Given the description of an element on the screen output the (x, y) to click on. 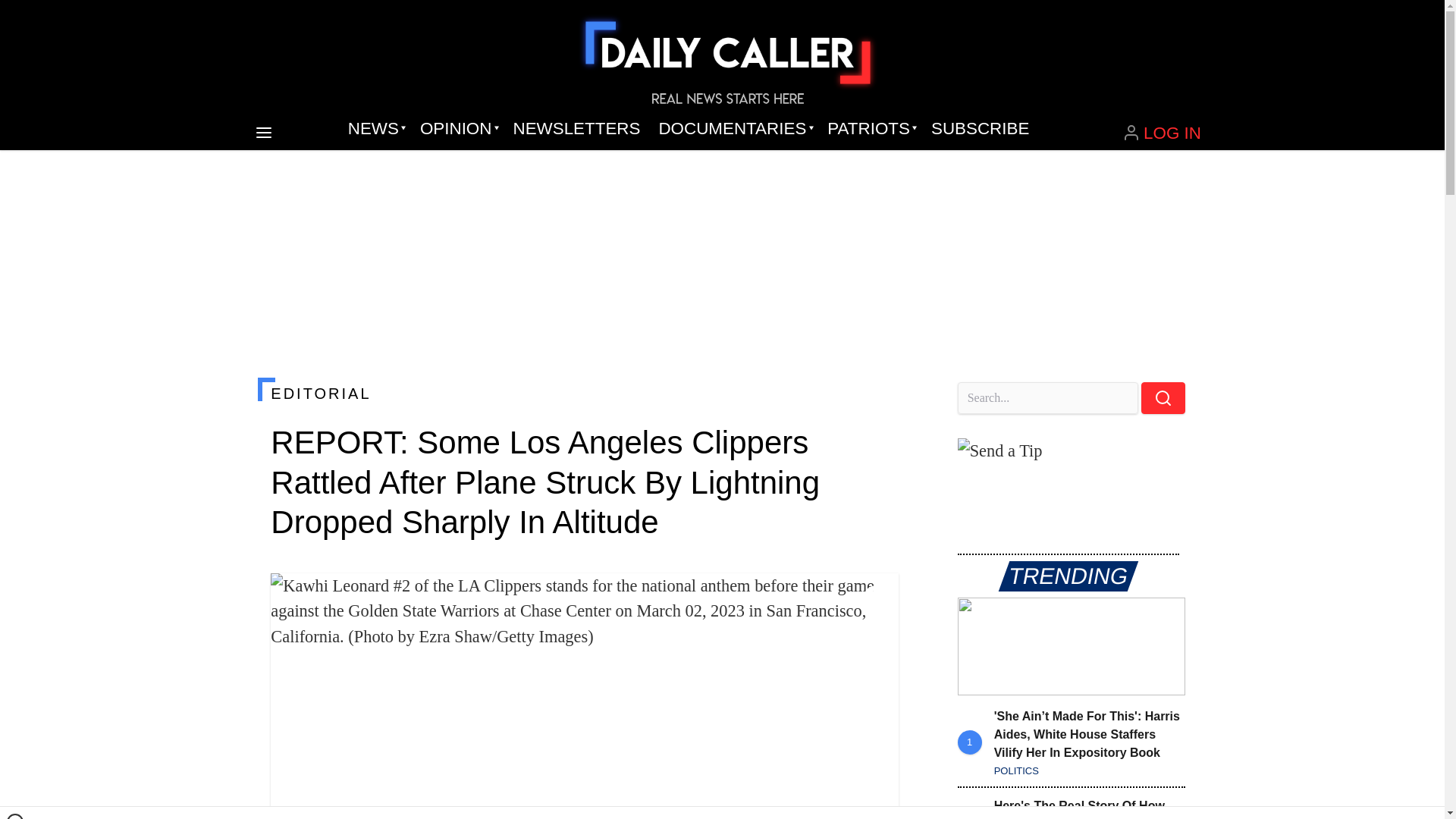
Toggle fullscreen (874, 596)
NEWS (374, 128)
NEWSLETTERS (576, 128)
EDITORIAL (584, 393)
OPINION (456, 128)
Close window (14, 816)
PATRIOTS (869, 128)
DOCUMENTARIES (733, 128)
SUBSCRIBE (979, 128)
